Given the description of an element on the screen output the (x, y) to click on. 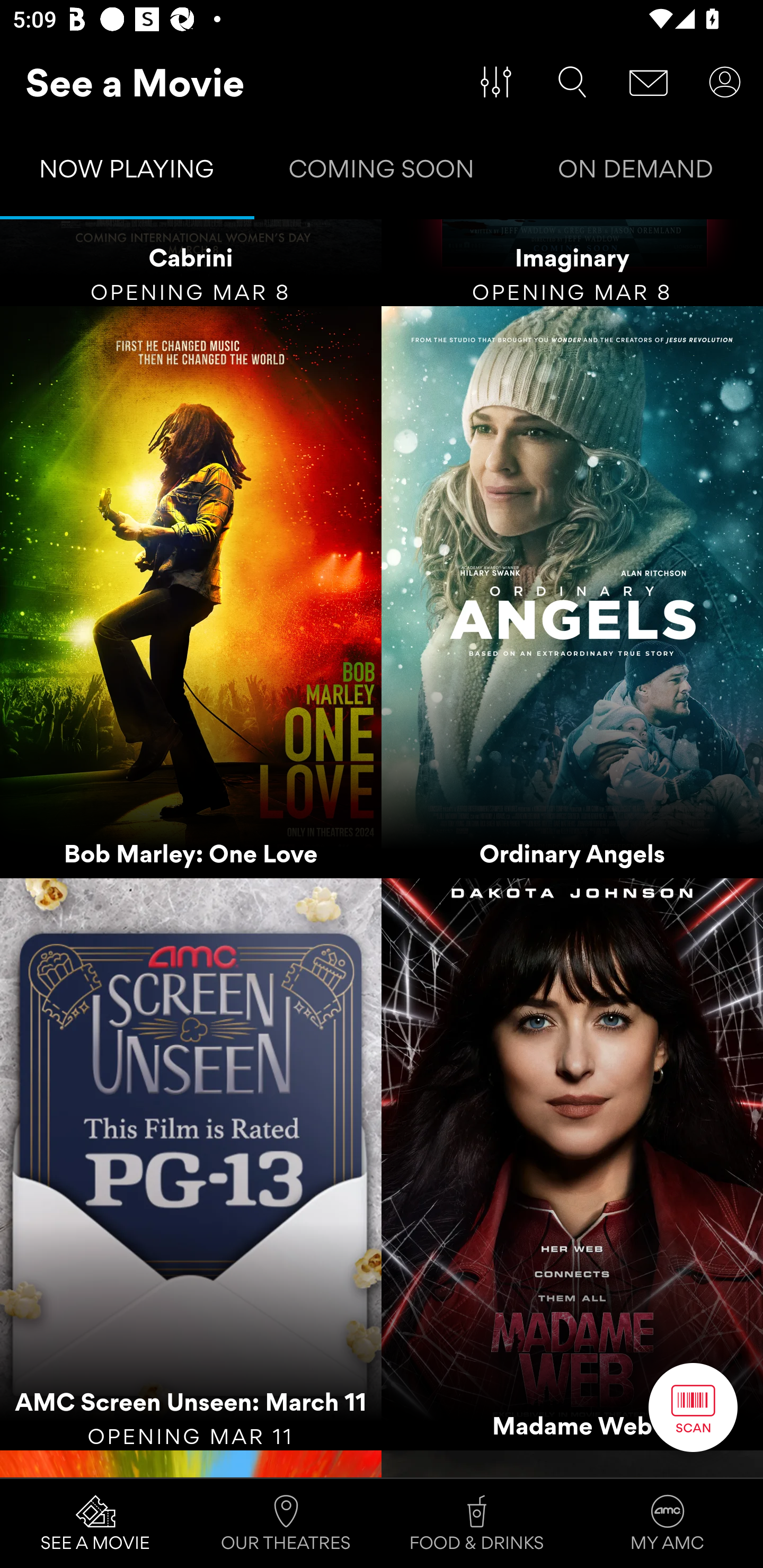
Filter Movies (495, 82)
Search (572, 82)
Message Center (648, 82)
User Account (724, 82)
NOW PLAYING
Tab 1 of 3 (127, 173)
COMING SOON
Tab 2 of 3 (381, 173)
ON DEMAND
Tab 3 of 3 (635, 173)
Cabrini
OPENING MAR 8 (190, 262)
Imaginary
OPENING MAR 8 (572, 262)
Bob Marley: One Love (190, 591)
Ordinary Angels (572, 591)
AMC Screen Unseen: March 11
OPENING MAR 11 (190, 1164)
Madame Web (572, 1164)
Scan Button (692, 1406)
SEE A MOVIE
Tab 1 of 4 (95, 1523)
OUR THEATRES
Tab 2 of 4 (285, 1523)
FOOD & DRINKS
Tab 3 of 4 (476, 1523)
MY AMC
Tab 4 of 4 (667, 1523)
